Given the description of an element on the screen output the (x, y) to click on. 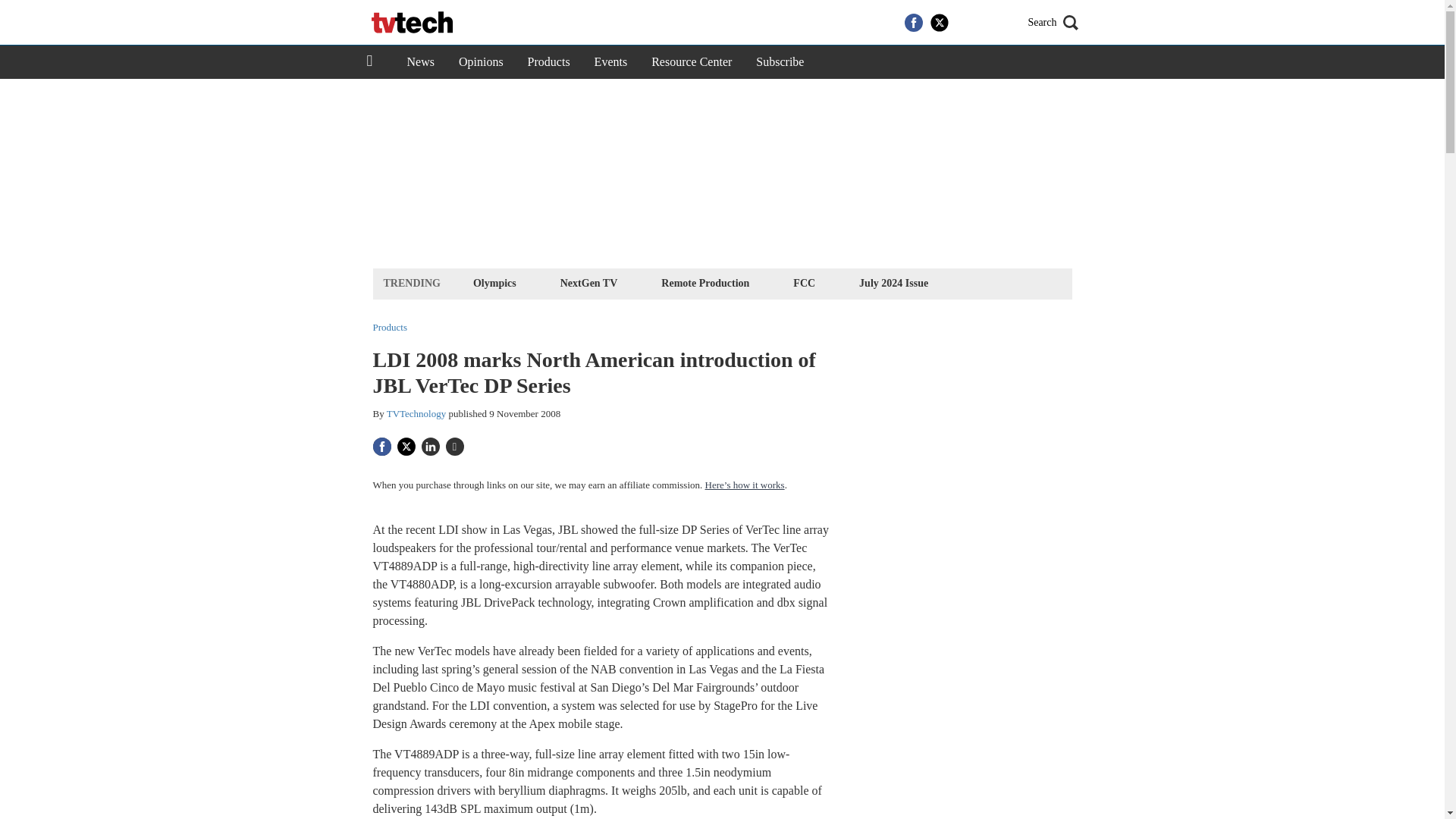
NextGen TV (588, 282)
Products (548, 61)
July 2024 Issue (893, 282)
Opinions (480, 61)
Resource Center (691, 61)
Remote Production (705, 282)
TVTechnology (416, 413)
Olympics (494, 282)
News (419, 61)
FCC (804, 282)
Subscribe (779, 61)
RSS (990, 22)
Events (611, 61)
Products (389, 327)
